Given the description of an element on the screen output the (x, y) to click on. 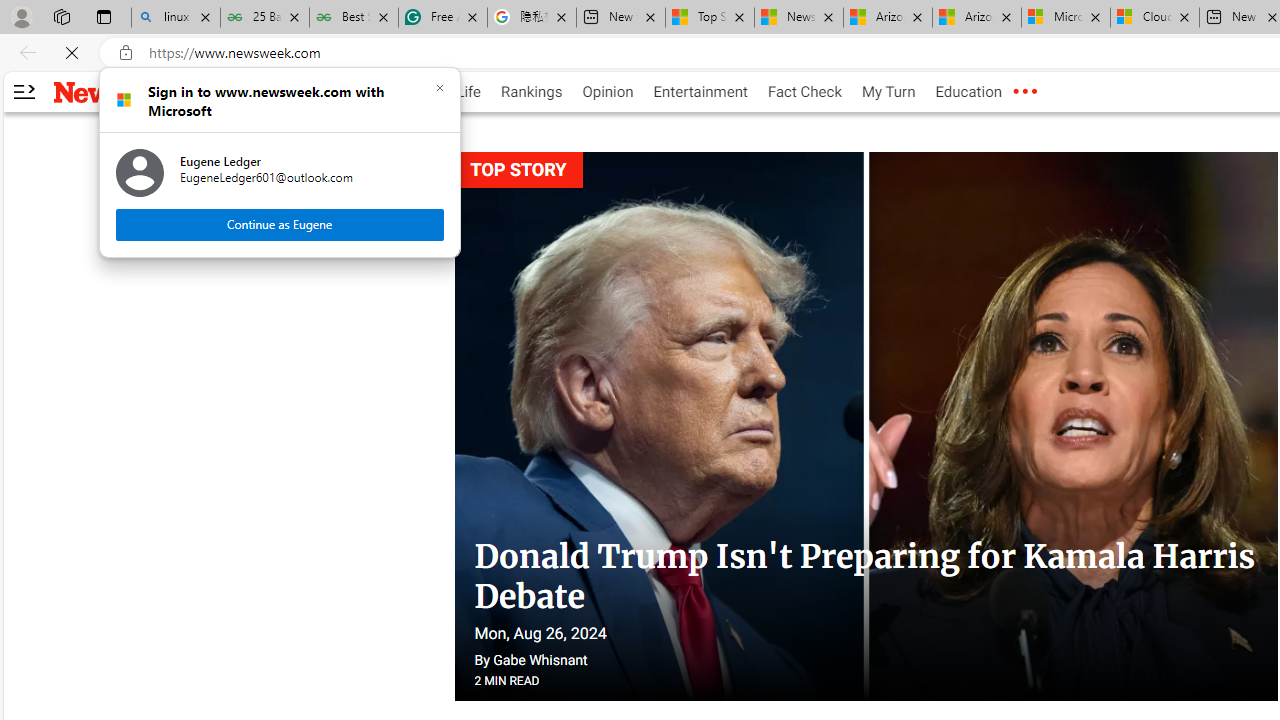
Rankings (532, 92)
Cloud Computing Services | Microsoft Azure (1155, 17)
Opinion (607, 92)
Class: the-red (1023, 92)
News - MSN (799, 17)
Fact Check (804, 92)
25 Basic Linux Commands For Beginners - GeeksforGeeks (264, 17)
Rankings (532, 92)
By Gabe Whisnant (530, 660)
